Given the description of an element on the screen output the (x, y) to click on. 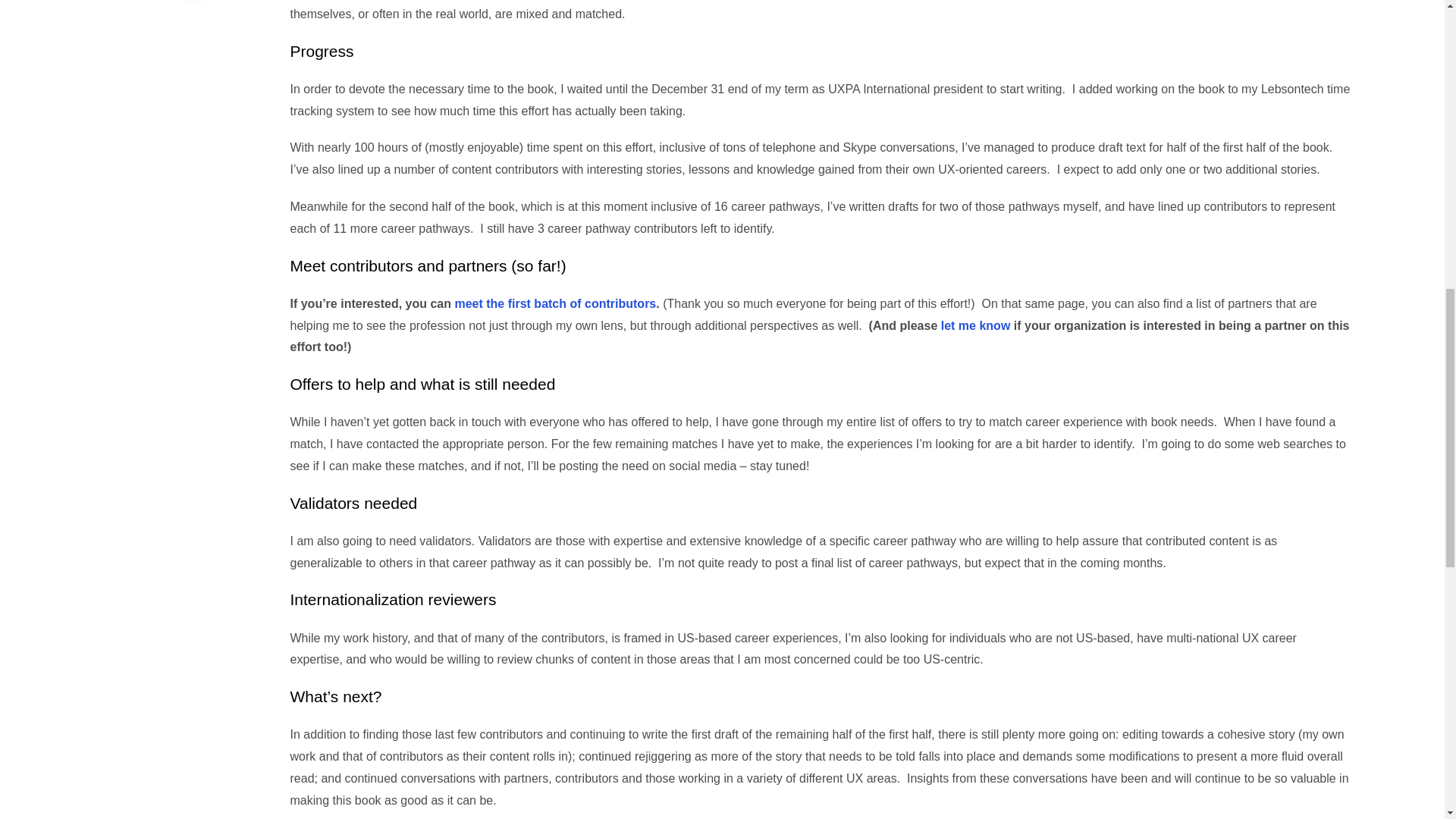
let me know (975, 325)
meet the first batch of contributors (555, 303)
